Given the description of an element on the screen output the (x, y) to click on. 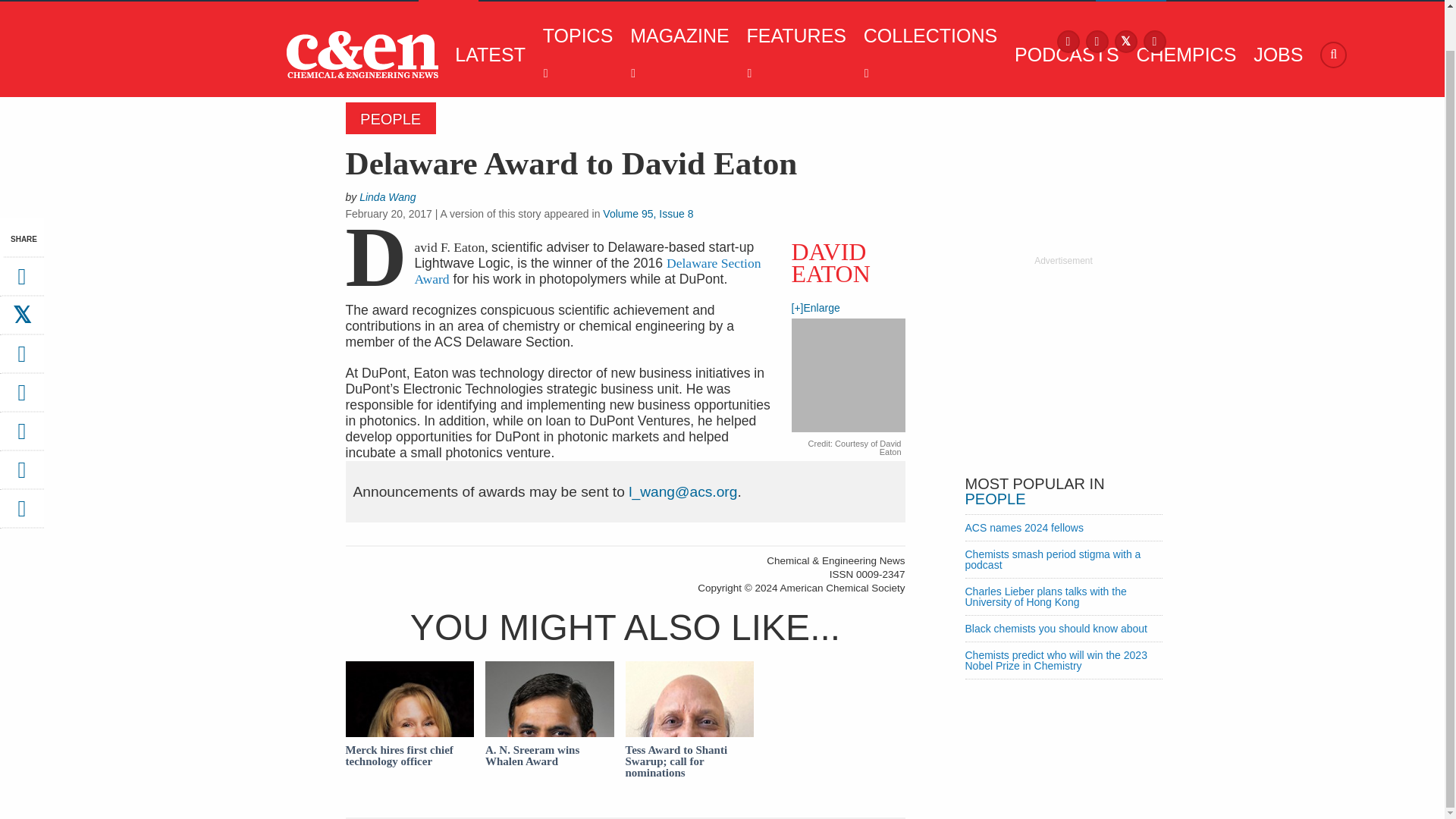
LinkedIn (1154, 40)
TOPICS (573, 54)
Linda Wang (682, 491)
Facebook (1068, 40)
Instagram (1097, 40)
A photo of David Eaton. (848, 376)
X (1126, 40)
Delaware Section Award (586, 270)
3rd party ad content (1062, 362)
LATEST (485, 54)
